Given the description of an element on the screen output the (x, y) to click on. 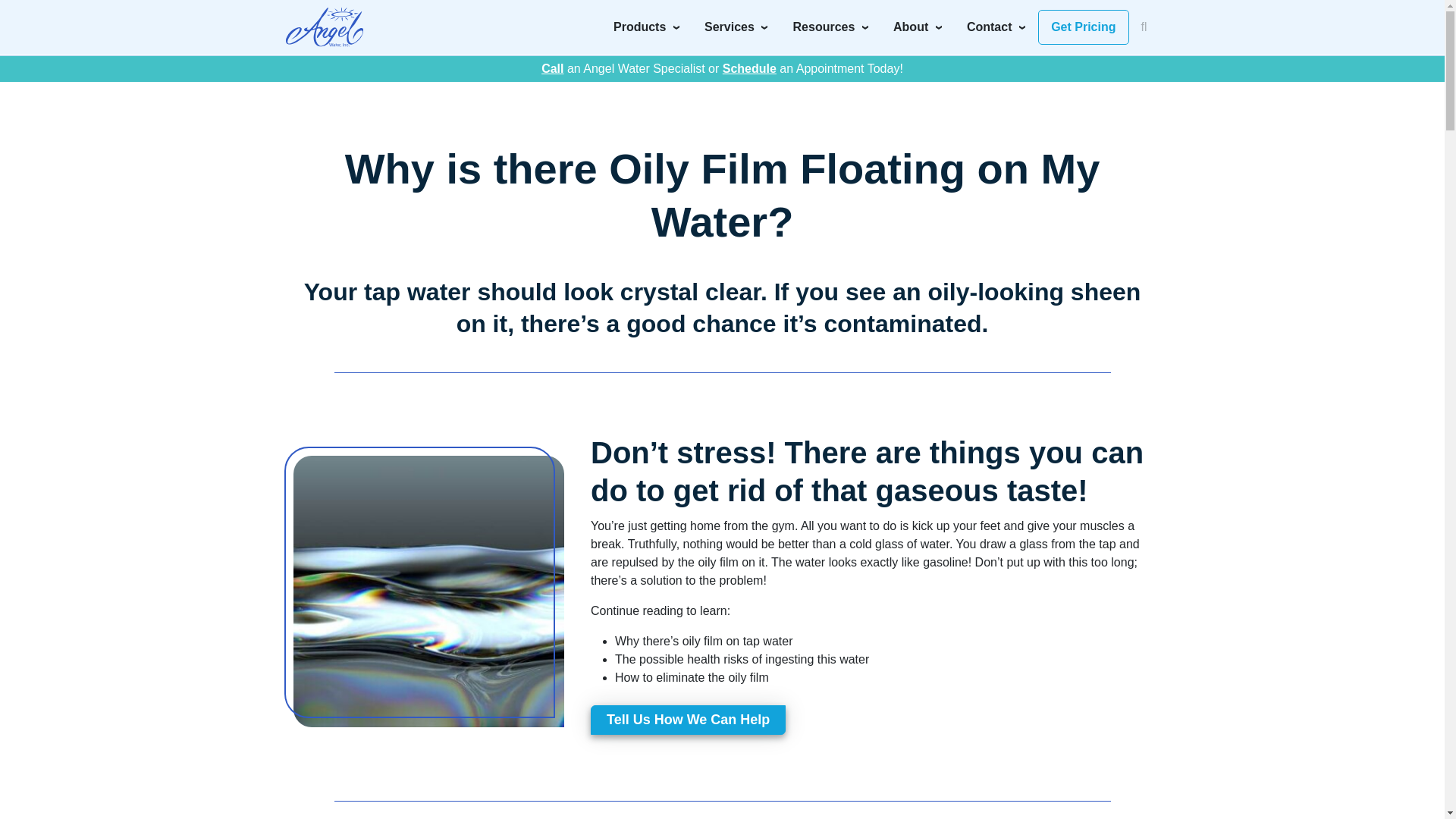
Products (647, 26)
Resources (831, 26)
About (917, 26)
Oily Film on Tap Water (429, 590)
Search (1017, 21)
Contact (996, 26)
Get Pricing (1083, 27)
Services (736, 26)
Angel Water (323, 26)
